Given the description of an element on the screen output the (x, y) to click on. 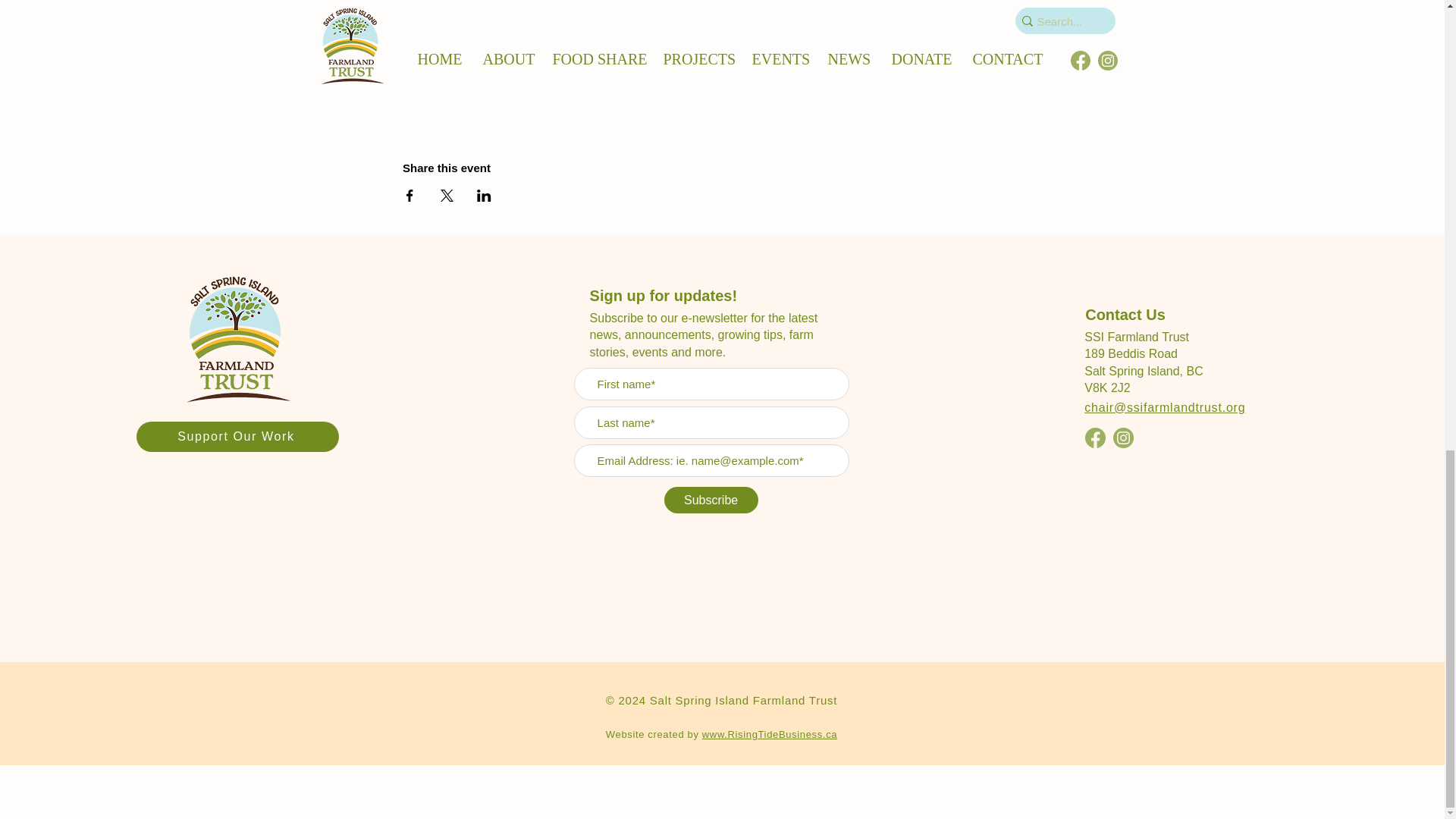
Subscribe (710, 499)
Support Our Work (237, 436)
www.RisingTideBusiness.ca (769, 734)
